Given the description of an element on the screen output the (x, y) to click on. 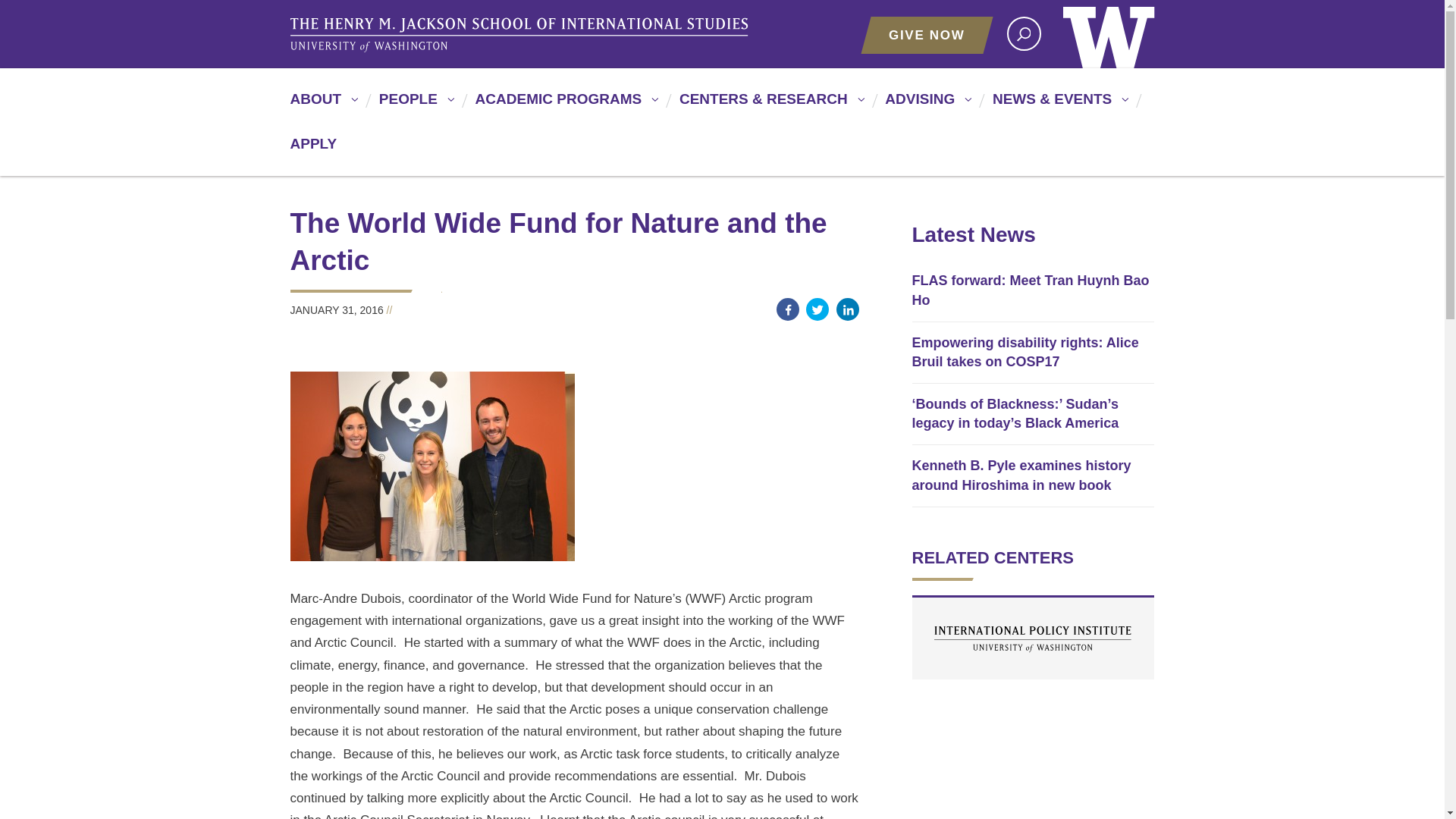
APPLY (312, 149)
University of Washington (1108, 33)
ACADEMIC PROGRAMS (564, 105)
ADVISING (924, 105)
University of Washington Home (1108, 33)
PEOPLE (414, 105)
People (414, 105)
About (322, 105)
GIVE NOW (927, 35)
